Given the description of an element on the screen output the (x, y) to click on. 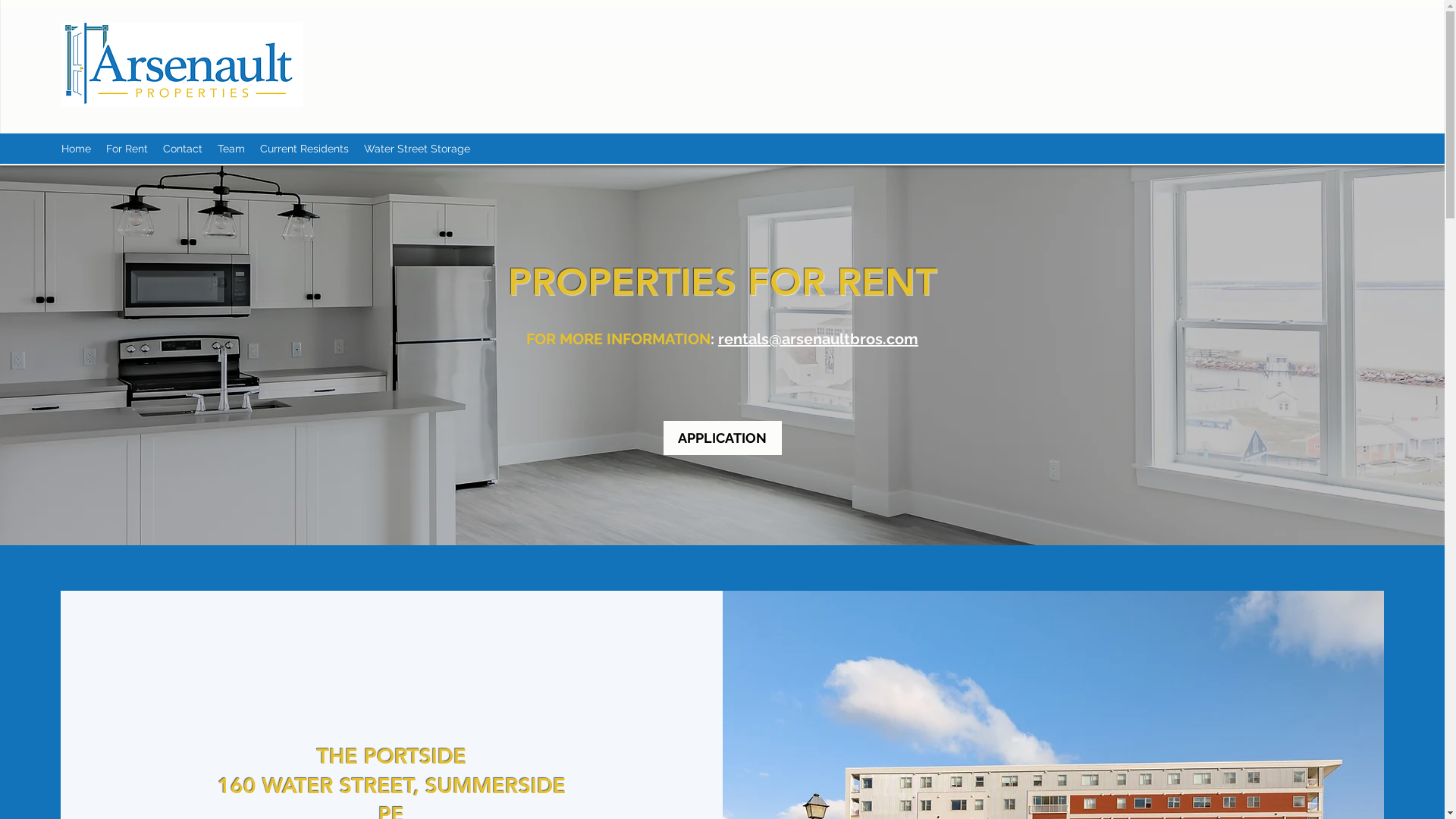
Contact Element type: text (182, 148)
APPLICATION Element type: text (721, 437)
Home Element type: text (75, 148)
rentals@arsenaultbros.com Element type: text (818, 338)
Water Street Storage Element type: text (416, 148)
For Rent Element type: text (126, 148)
Current Residents Element type: text (304, 148)
Team Element type: text (231, 148)
